Given the description of an element on the screen output the (x, y) to click on. 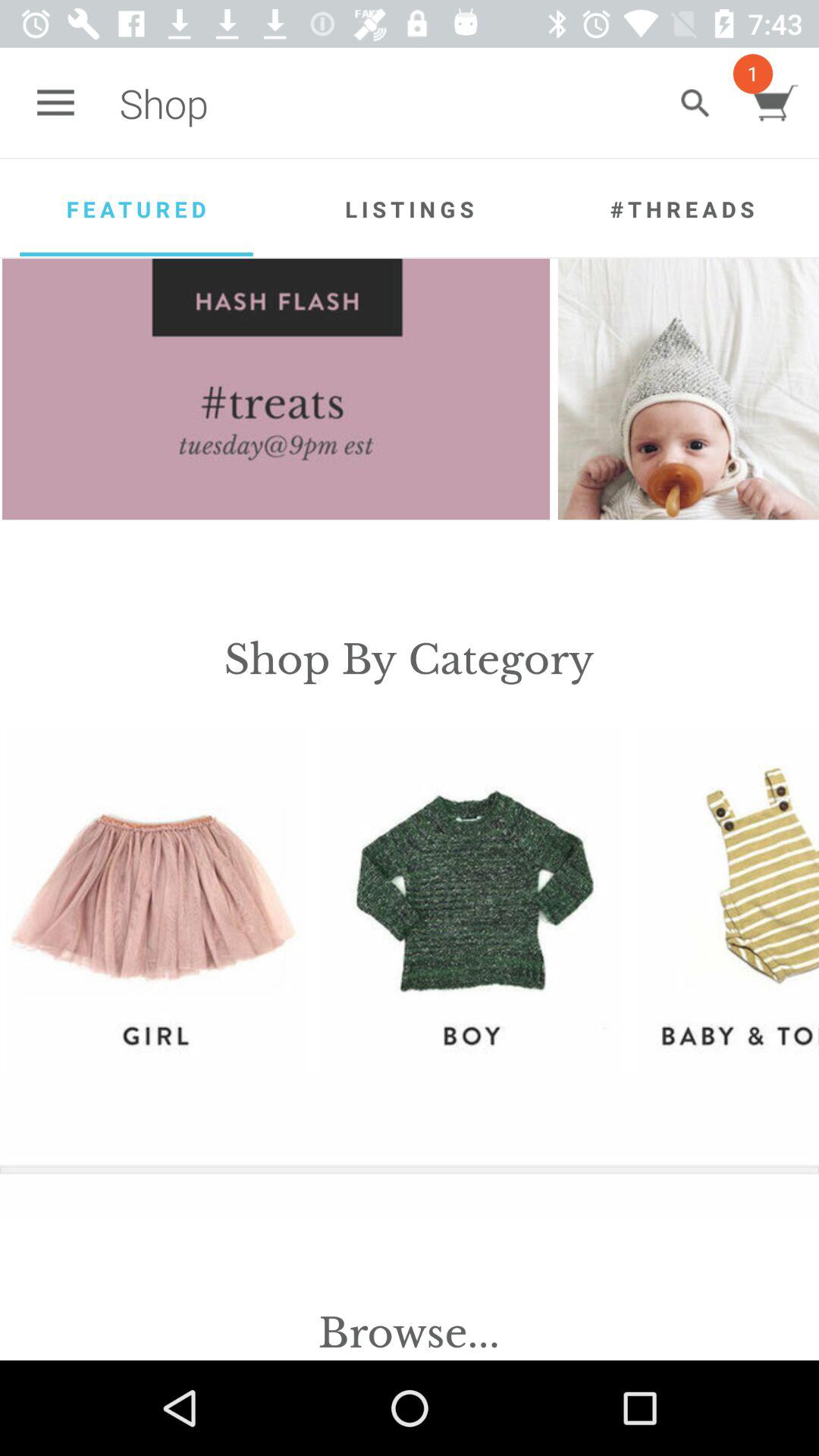
turn on the item to the left of shop app (55, 103)
